Given the description of an element on the screen output the (x, y) to click on. 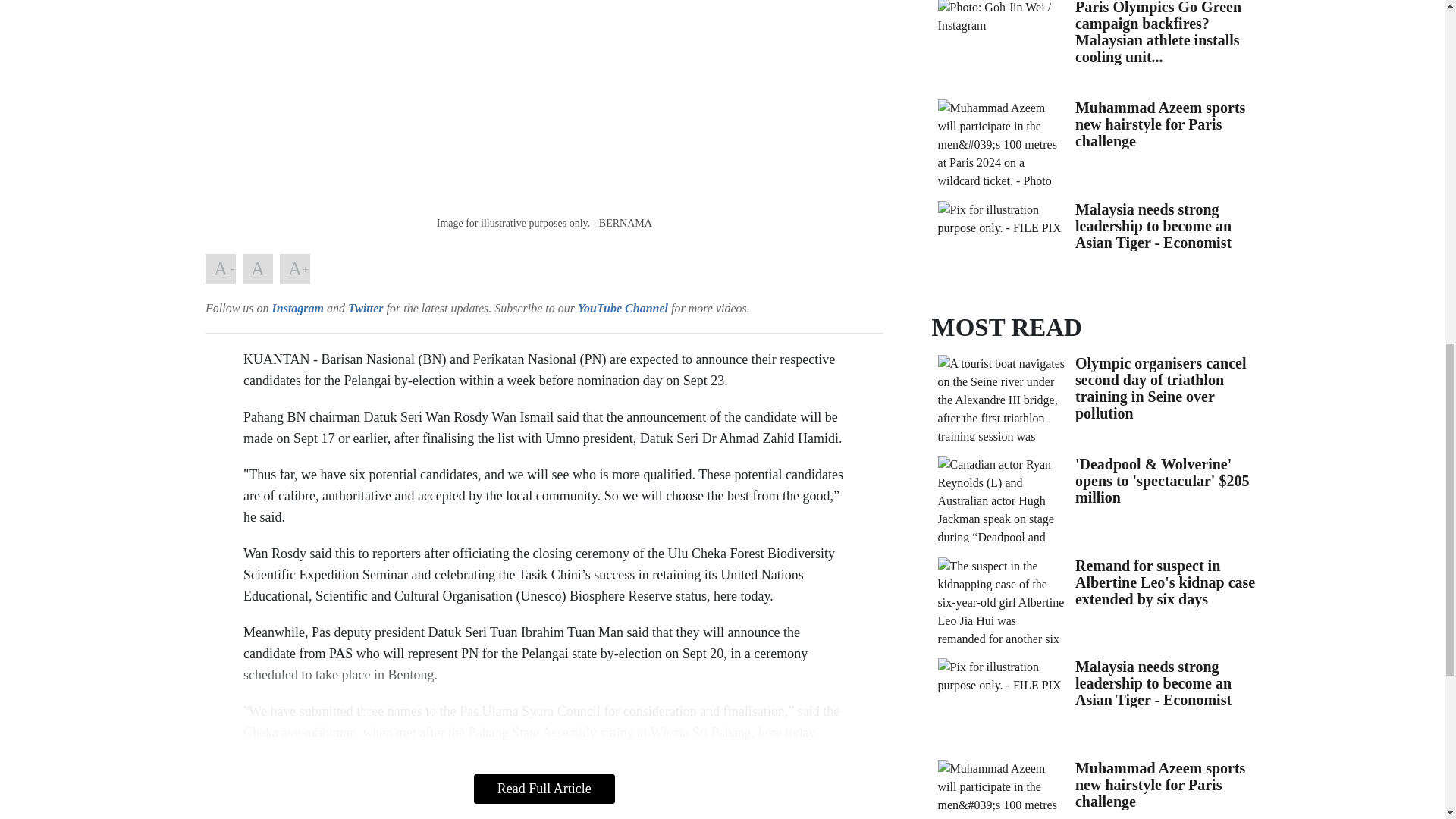
Teks Besar (294, 268)
Teks Asal (258, 268)
Teks Kecil (220, 268)
